Given the description of an element on the screen output the (x, y) to click on. 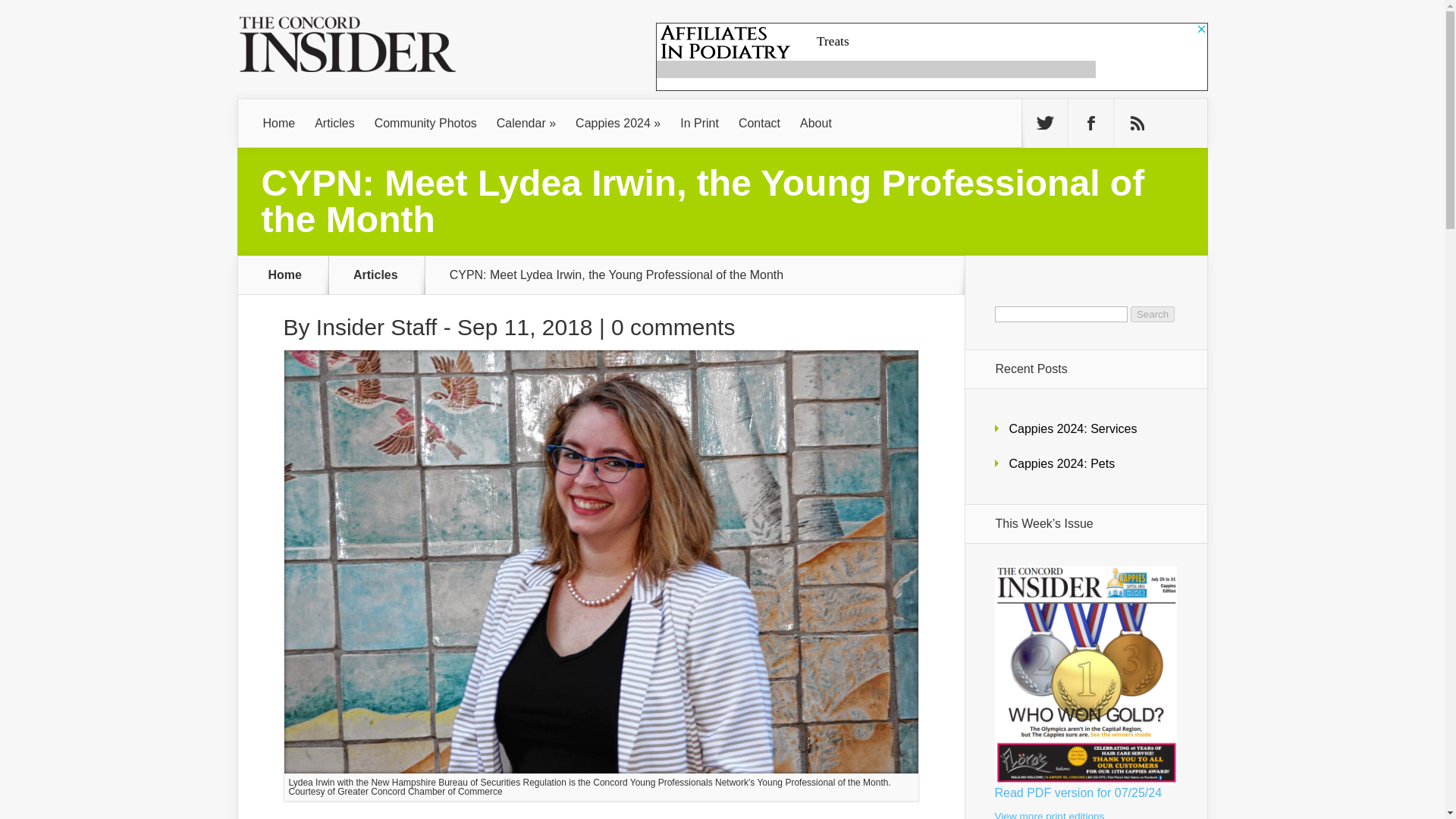
About (815, 123)
Contact (759, 123)
Calendar (526, 123)
Community Photos (425, 123)
Cappies 2024 (617, 123)
Follow us on Twitter (1044, 123)
Articles (334, 123)
Home (285, 275)
Articles (384, 275)
Search (1152, 314)
Home (279, 123)
Follow us on Facebook (1090, 123)
Posts by Insider Staff (376, 326)
3rd party ad content (931, 56)
Subscribe To Rss Feed (1137, 123)
